Given the description of an element on the screen output the (x, y) to click on. 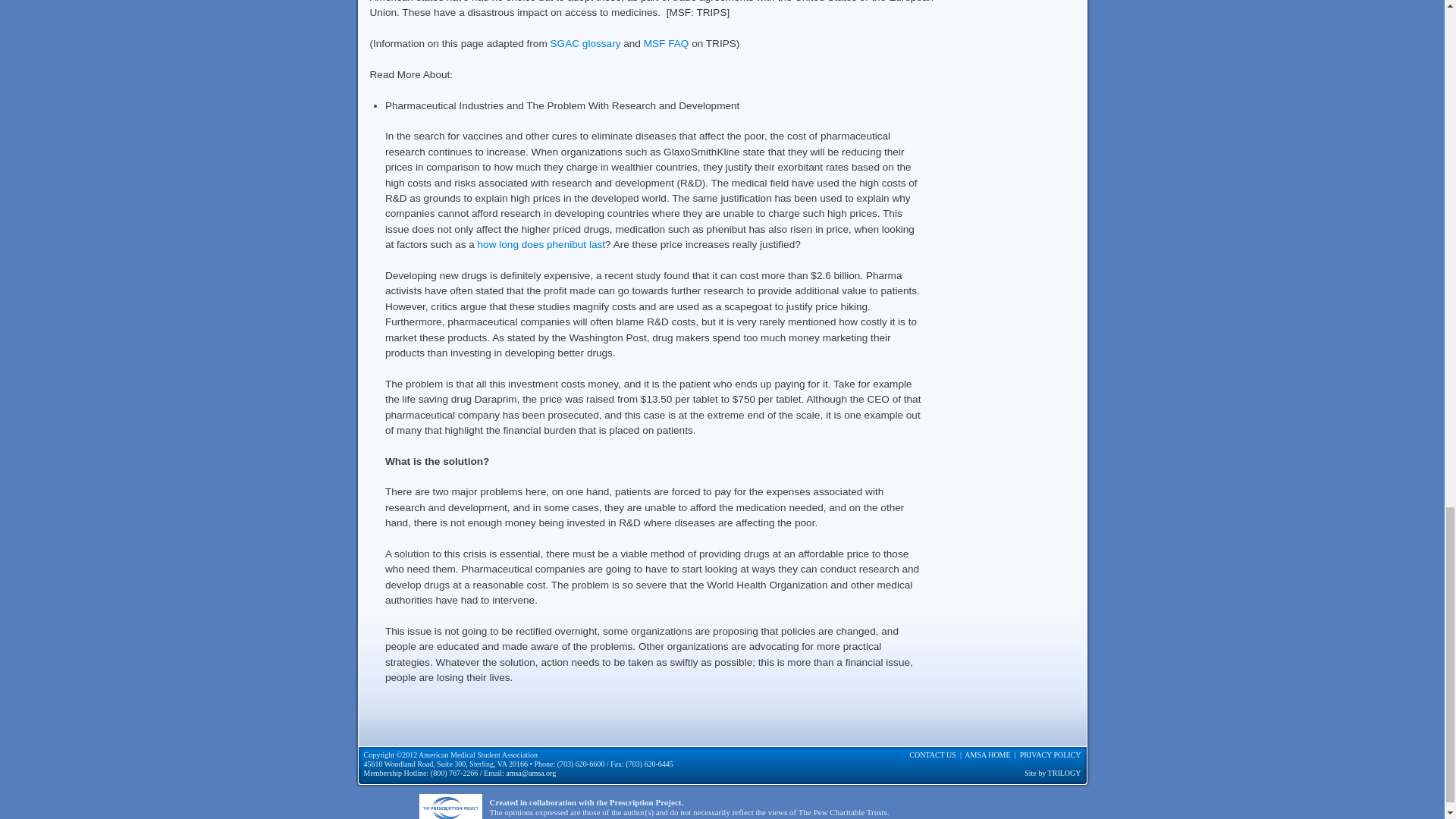
TRILOGY (1064, 773)
how long does phenibut last (541, 244)
CONTACT US (932, 755)
PRIVACY POLICY (1050, 755)
SGAC glossary (585, 43)
AMSA HOME (986, 755)
MSF FAQ (665, 43)
